Given the description of an element on the screen output the (x, y) to click on. 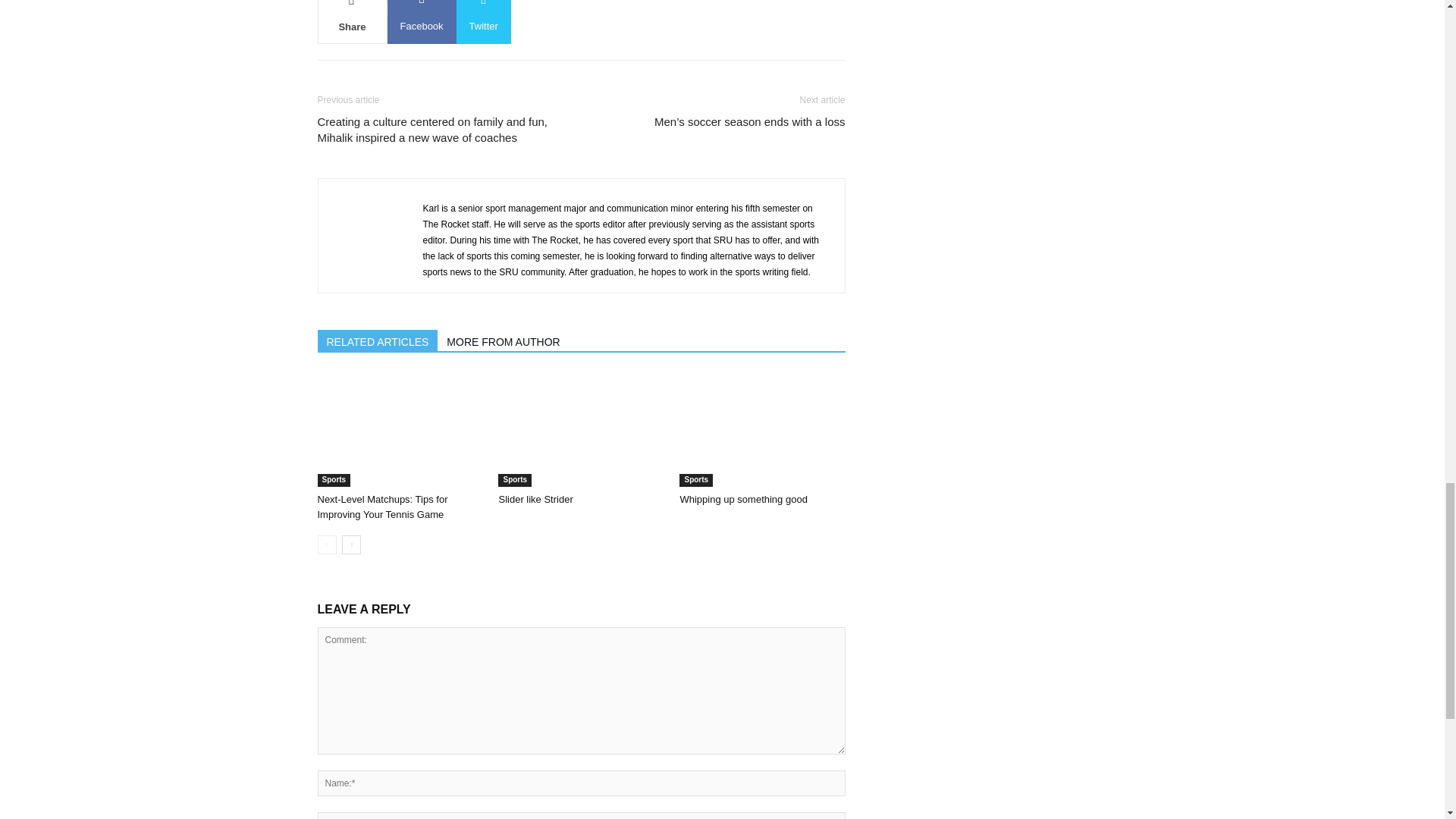
Next-Level Matchups: Tips for Improving Your Tennis Game (381, 506)
Next-Level Matchups: Tips for Improving Your Tennis Game (399, 429)
Slider like Strider (580, 429)
